Given the description of an element on the screen output the (x, y) to click on. 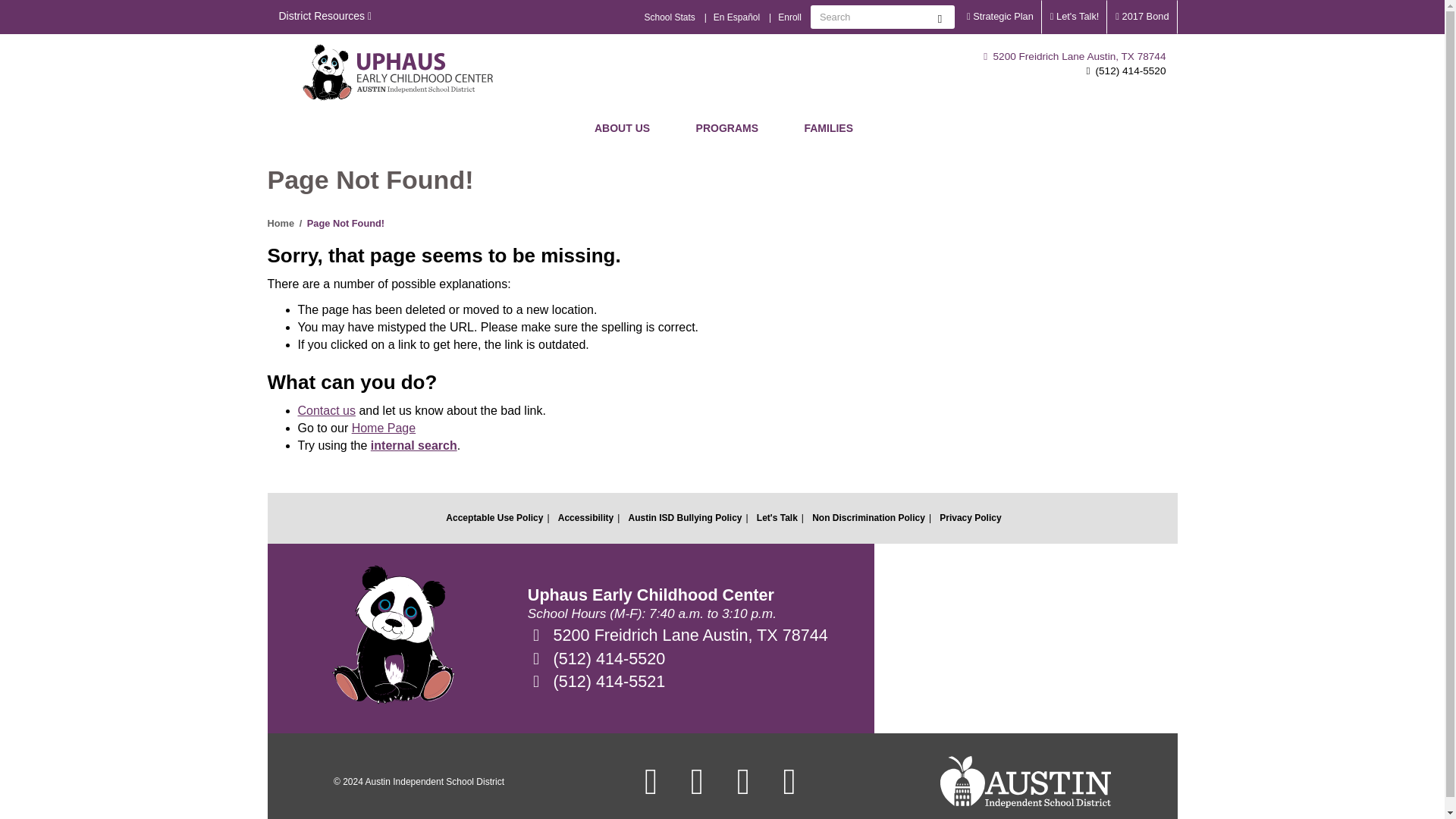
  5200 Freidrich Lane Austin, TX 78744 (1075, 56)
ABOUT US (622, 127)
PROGRAMS (726, 127)
School Stats (668, 17)
FAMILIES (828, 127)
Search (939, 16)
Visit Austin ISD's Website (1024, 781)
Uphaus Early Childhood Center (397, 72)
Enroll (789, 17)
